Given the description of an element on the screen output the (x, y) to click on. 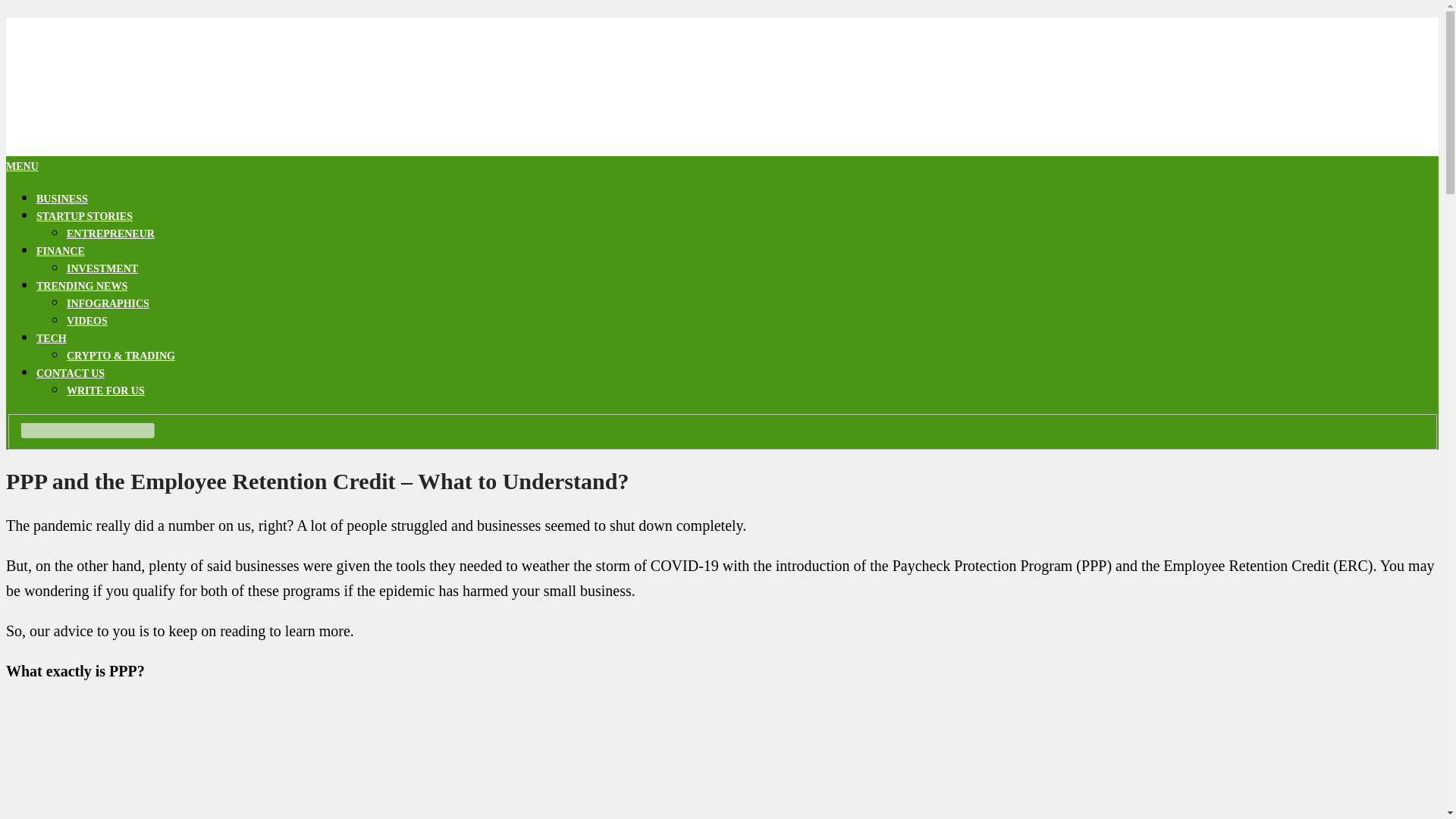
STARTUP STORIES (84, 215)
MENU (22, 165)
CONTACT US (70, 373)
FINANCE (60, 251)
INFOGRAPHICS (107, 303)
VIDEOS (86, 320)
INVESTMENT (102, 268)
WRITE FOR US (105, 390)
TECH (51, 337)
ENTREPRENEUR (110, 233)
